Given the description of an element on the screen output the (x, y) to click on. 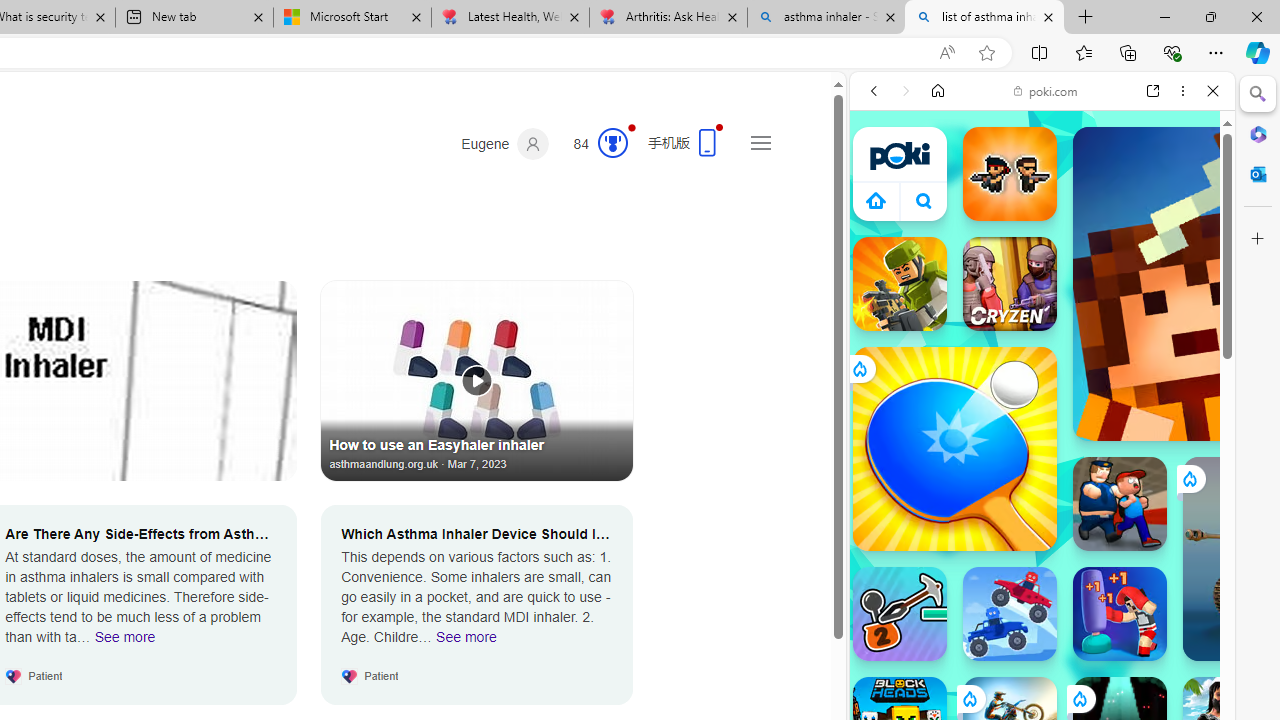
Global web icon (888, 288)
Ping Pong Go! (954, 448)
VIDEOS (1006, 228)
How to use an Easyhaler inhaler (477, 380)
Punch Legend Simulator (1119, 613)
Show More Io Games (1164, 619)
Preferences (1189, 228)
Class: aprWdaSScyiJf4Jvmsx9 (875, 200)
Battle Wheels Battle Wheels (1009, 613)
Sports Games (1042, 666)
asthma inhaler - Search (825, 17)
